Given the description of an element on the screen output the (x, y) to click on. 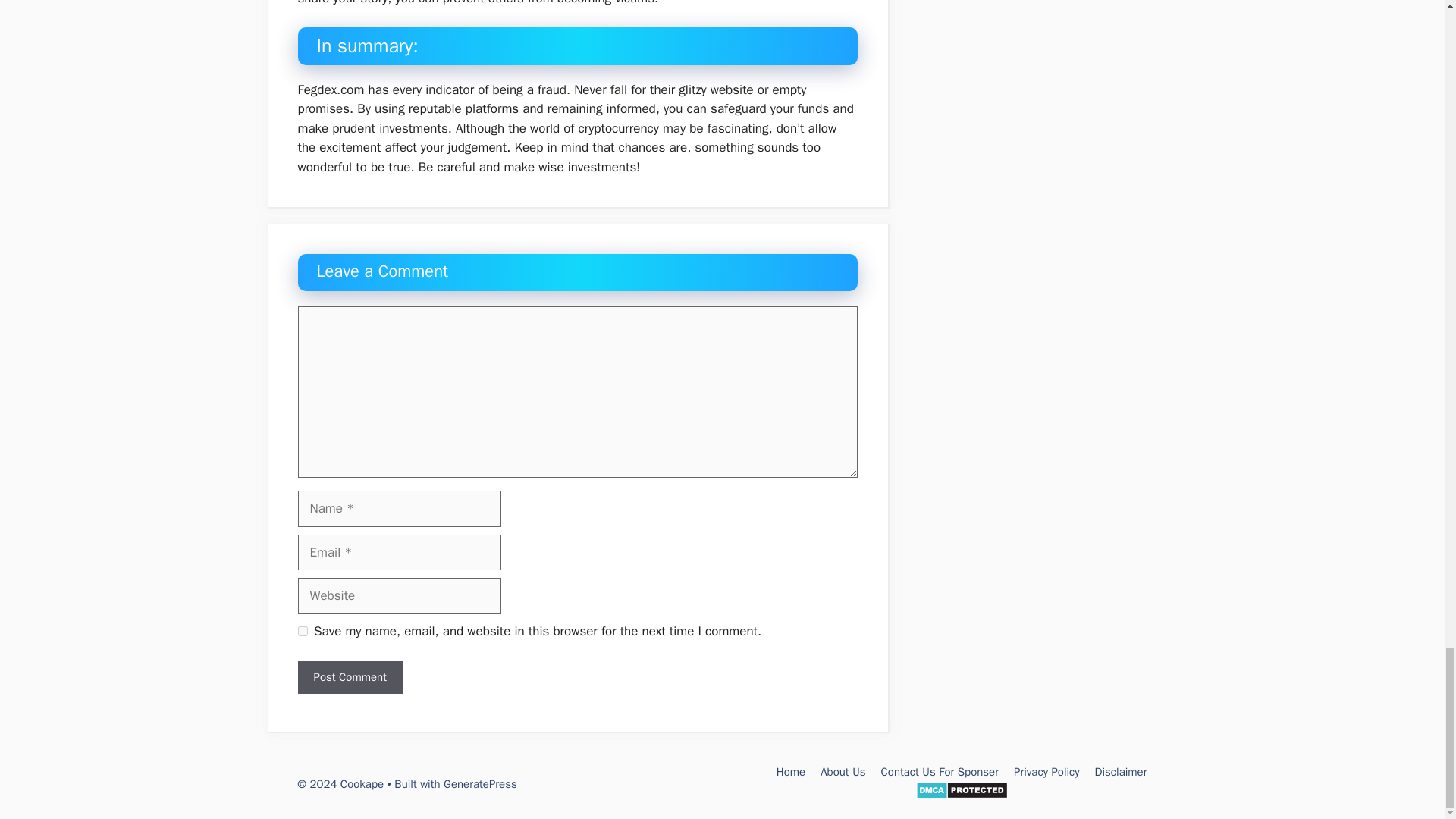
About Us (842, 771)
Privacy Policy (1046, 771)
Post Comment (349, 677)
Home (790, 771)
Contact Us For Sponser (939, 771)
Post Comment (349, 677)
GeneratePress (480, 784)
yes (302, 631)
DMCA.com Protection Status (961, 795)
Disclaimer (1120, 771)
